Given the description of an element on the screen output the (x, y) to click on. 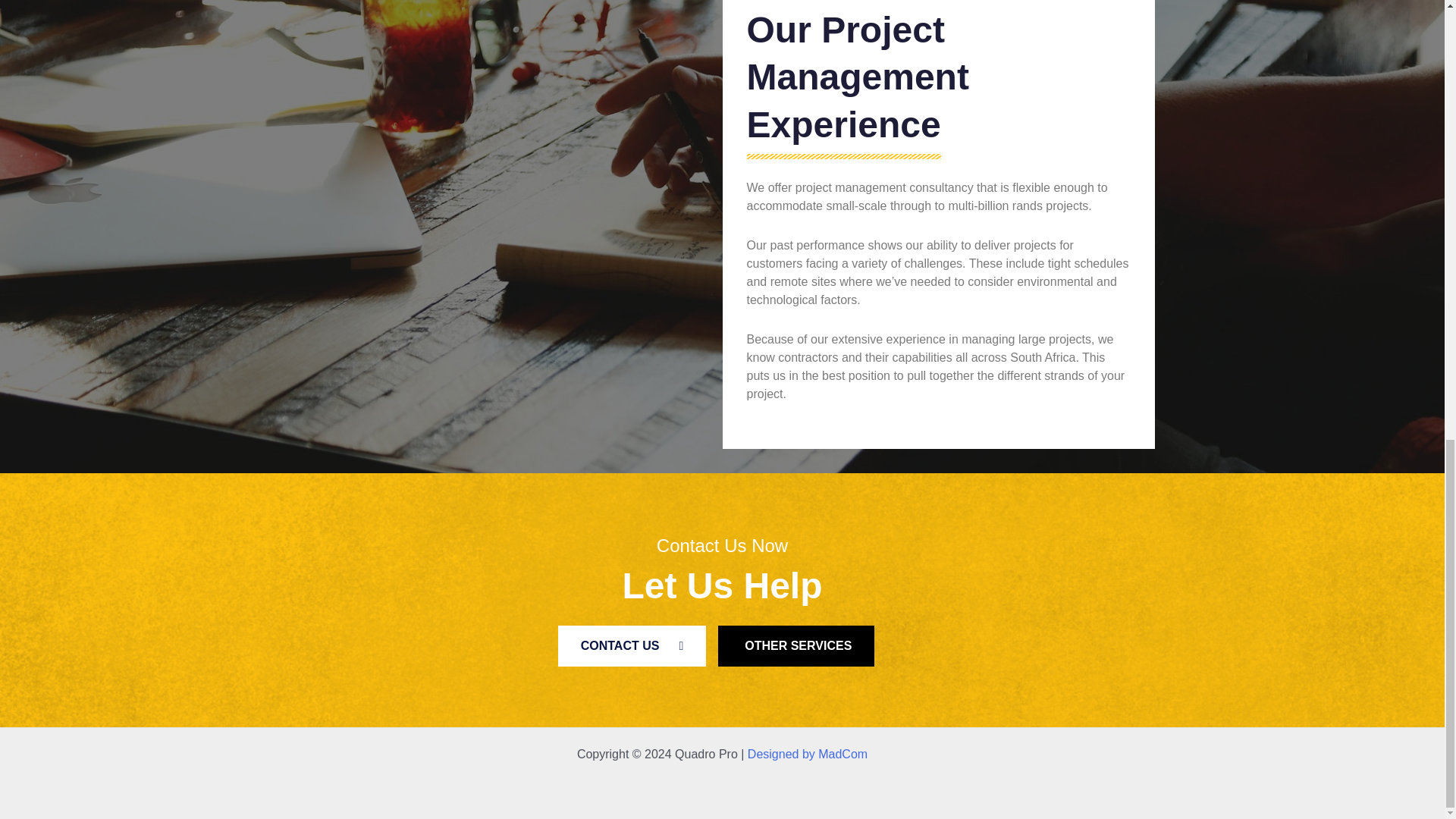
Designed by MadCom (807, 753)
OTHER SERVICES (796, 645)
CONTACT US (631, 645)
